Given the description of an element on the screen output the (x, y) to click on. 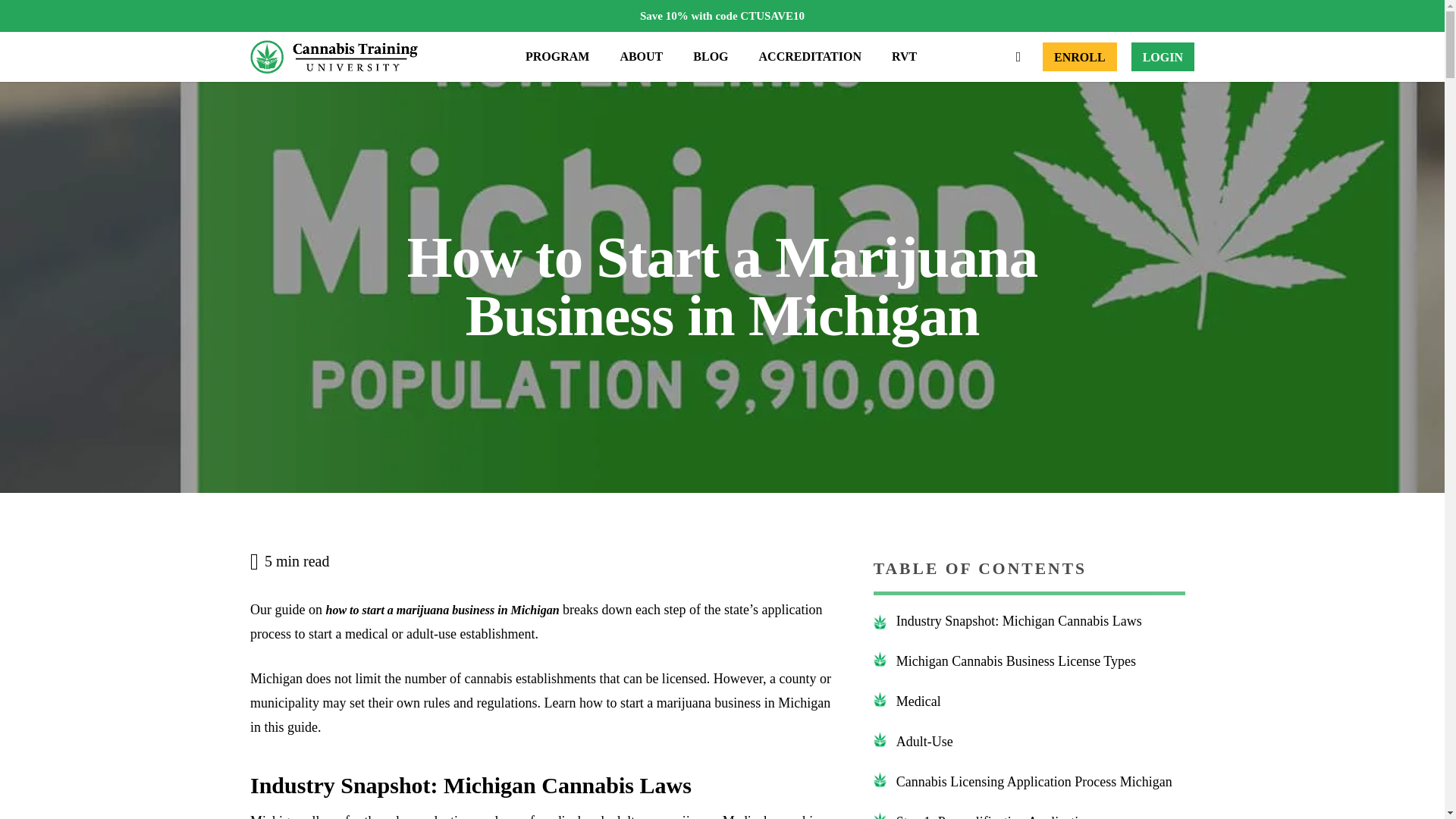
PROGRAM (557, 56)
Log In (1162, 56)
ABOUT (641, 56)
